Given the description of an element on the screen output the (x, y) to click on. 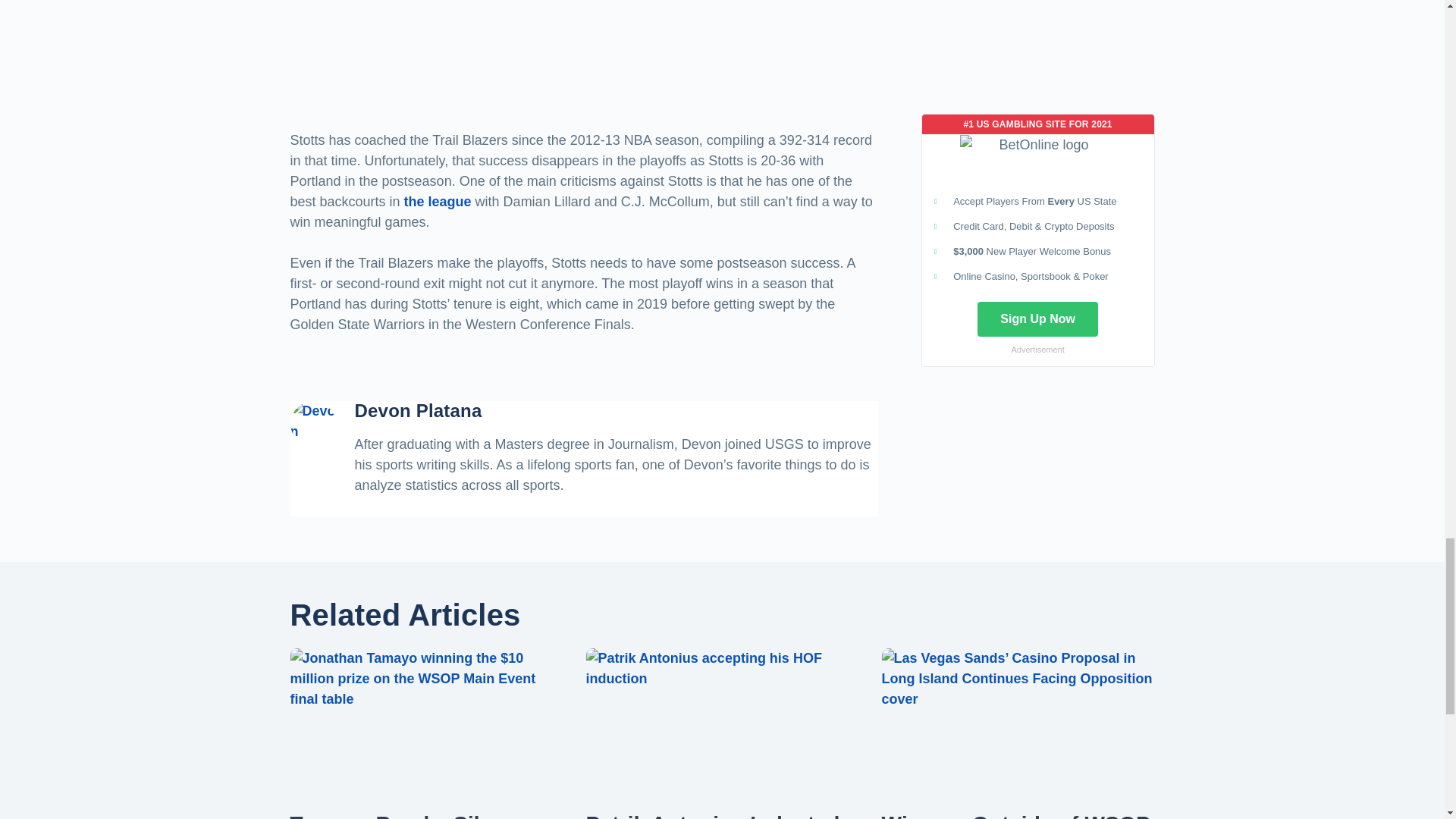
Winners Outside of WSOP (1015, 815)
Patrik Antonius Inducted into the Poker Hall of Fame (712, 815)
the league (440, 201)
Tamayo Breaks Silence About WSOP Main Event Controversy (415, 815)
